Given the description of an element on the screen output the (x, y) to click on. 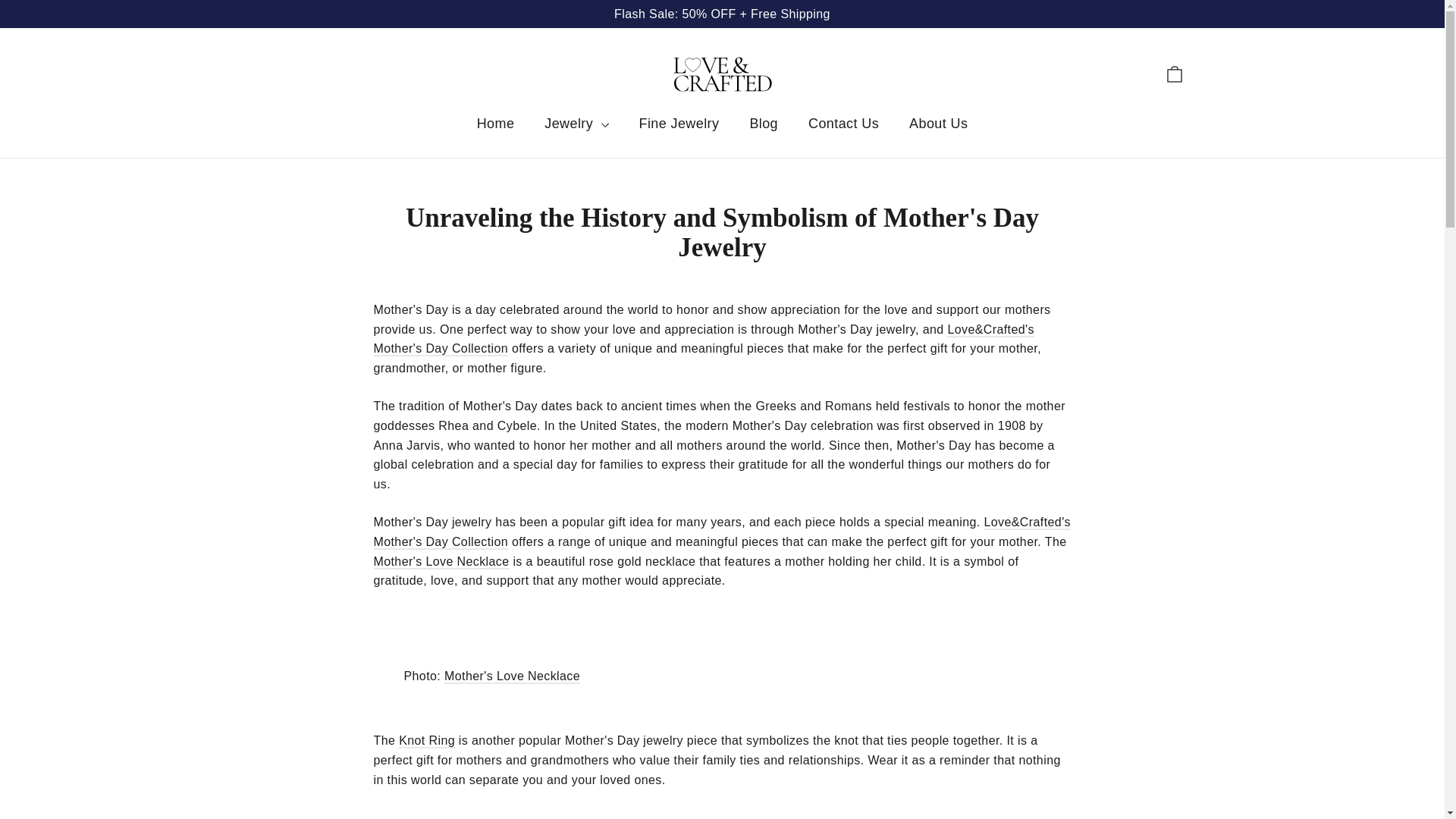
Home (495, 123)
Fine Jewelry (679, 123)
Contact Us (843, 123)
Jewelry (576, 123)
Cart (1173, 74)
Blog (763, 123)
About Us (937, 123)
